Given the description of an element on the screen output the (x, y) to click on. 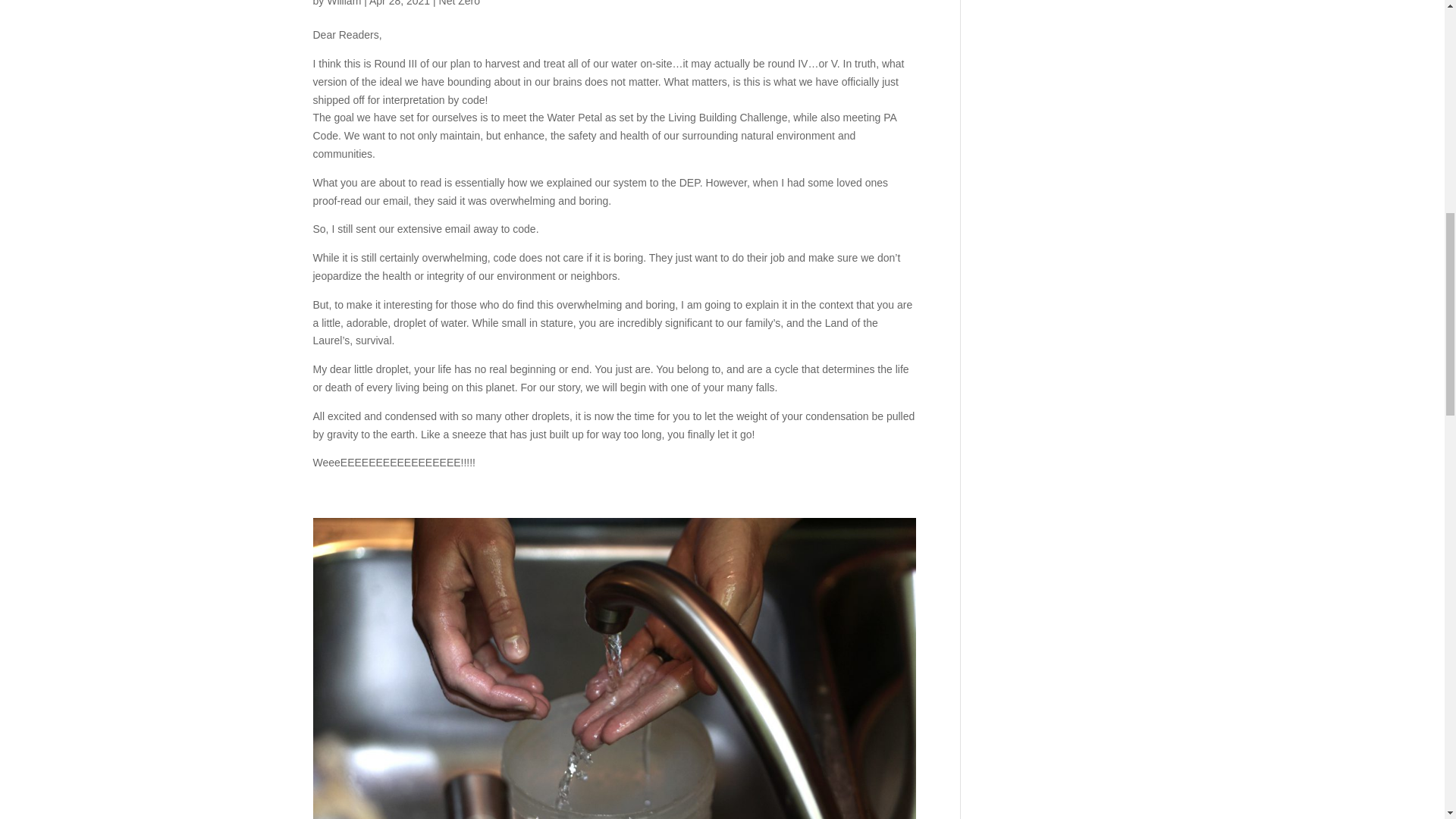
Net Zero (459, 3)
William (343, 3)
Posts by William (343, 3)
